Given the description of an element on the screen output the (x, y) to click on. 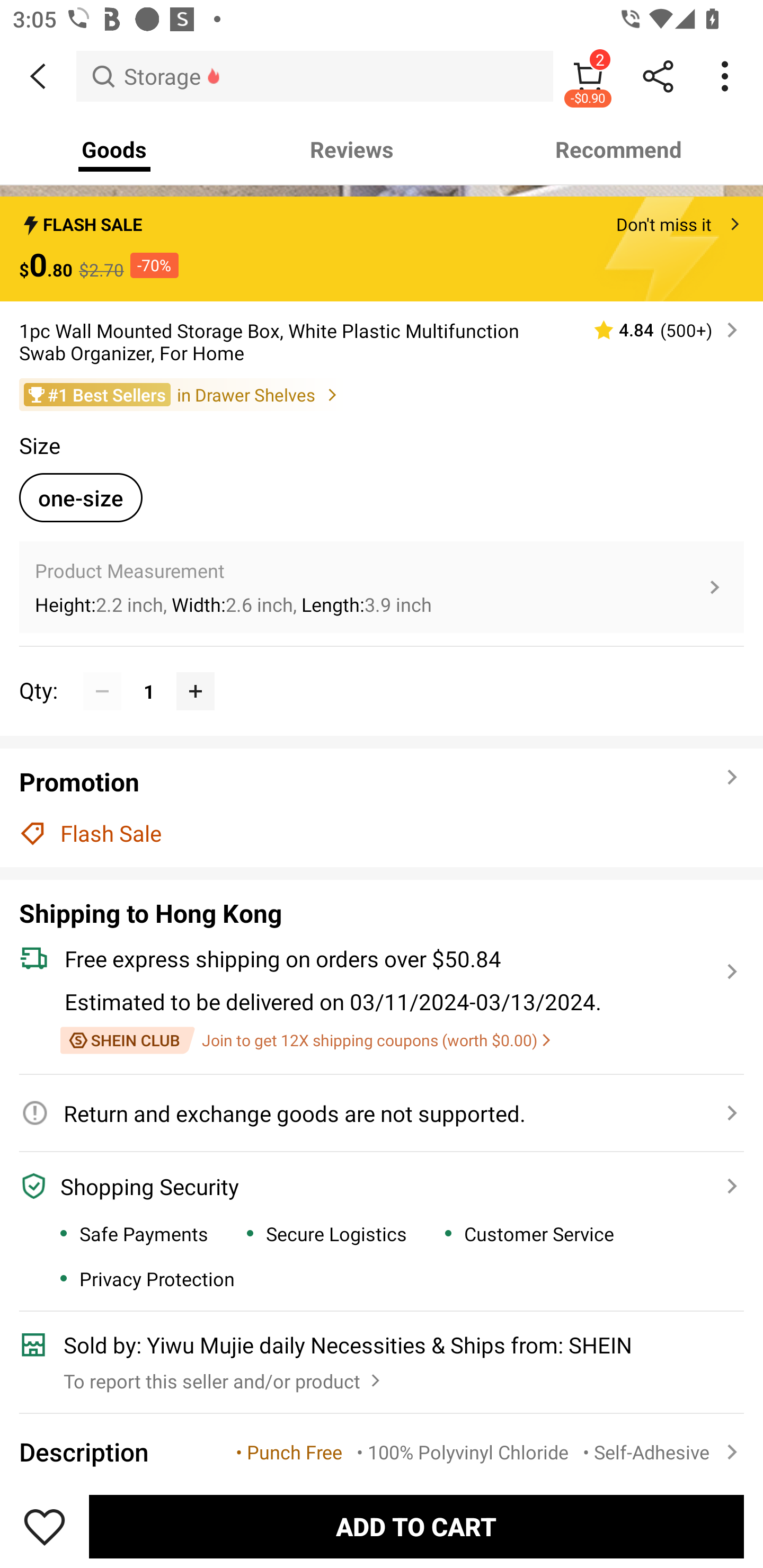
BACK (38, 75)
2 -$0.90 (588, 75)
Storage (314, 75)
Goods (114, 149)
Reviews (351, 149)
Recommend (618, 149)
FLASH SALE Don't miss it $0.80 $2.70 -70% (381, 248)
FLASH SALE Don't miss it (381, 219)
4.84 (500‎+) (658, 329)
#1 Best Sellers in Drawer Shelves (381, 393)
Size (39, 444)
one-size one-sizeselected option (80, 497)
Qty: 1 (381, 671)
Promotion Flash Sale (381, 807)
Join to get 12X shipping coupons (worth $0.00) (305, 1040)
Return and exchange goods are not supported. (370, 1112)
To report this seller and/or product   (224, 1376)
ADD TO CART (416, 1526)
Save (44, 1526)
